Given the description of an element on the screen output the (x, y) to click on. 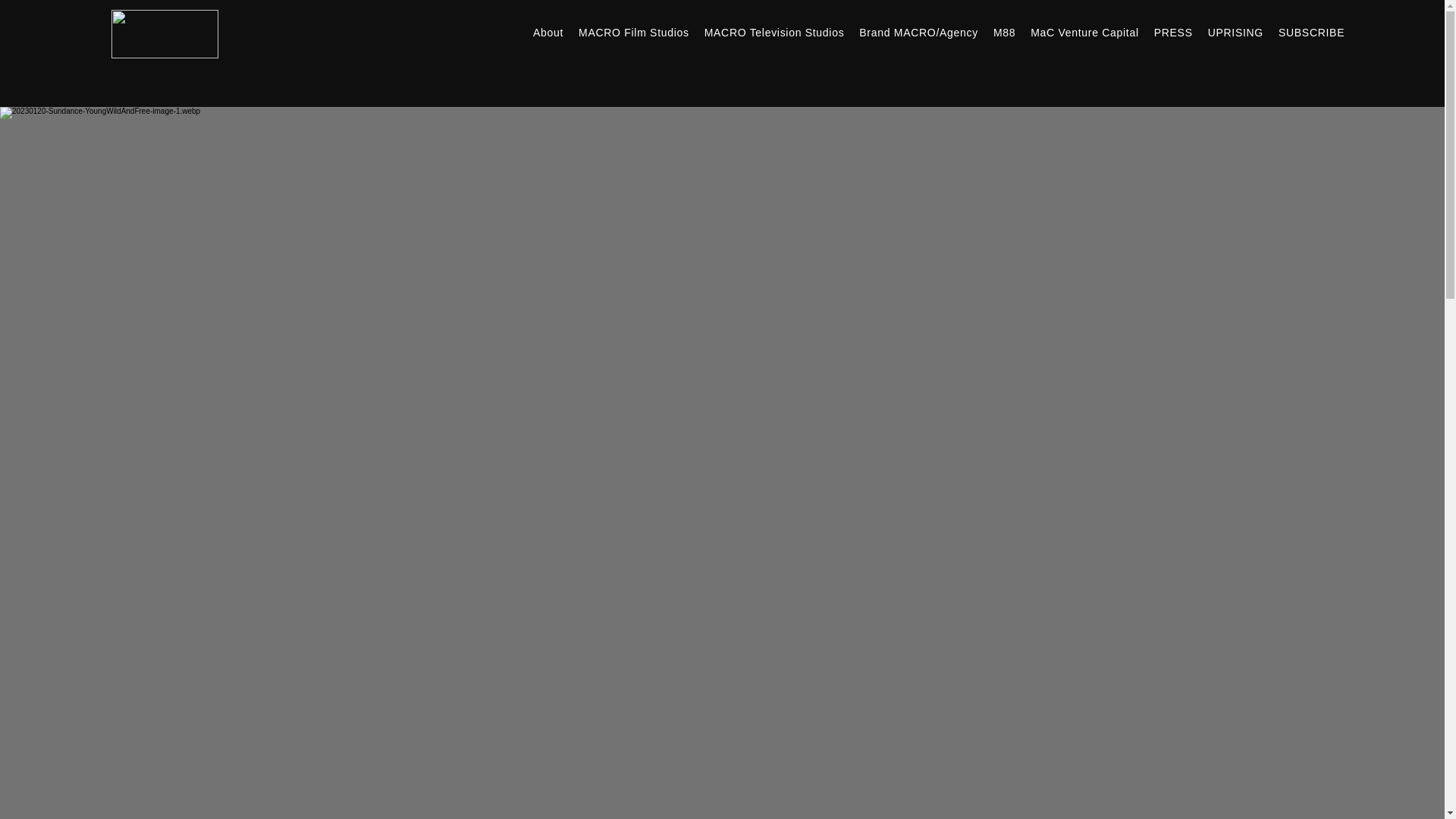
M88 (1004, 31)
MACRO Television Studios (774, 31)
PRESS (1173, 31)
MaC Venture Capital (1084, 31)
SUBSCRIBE (1311, 31)
About (547, 31)
MACRO Film Studios (633, 31)
UPRISING (1235, 31)
